Given the description of an element on the screen output the (x, y) to click on. 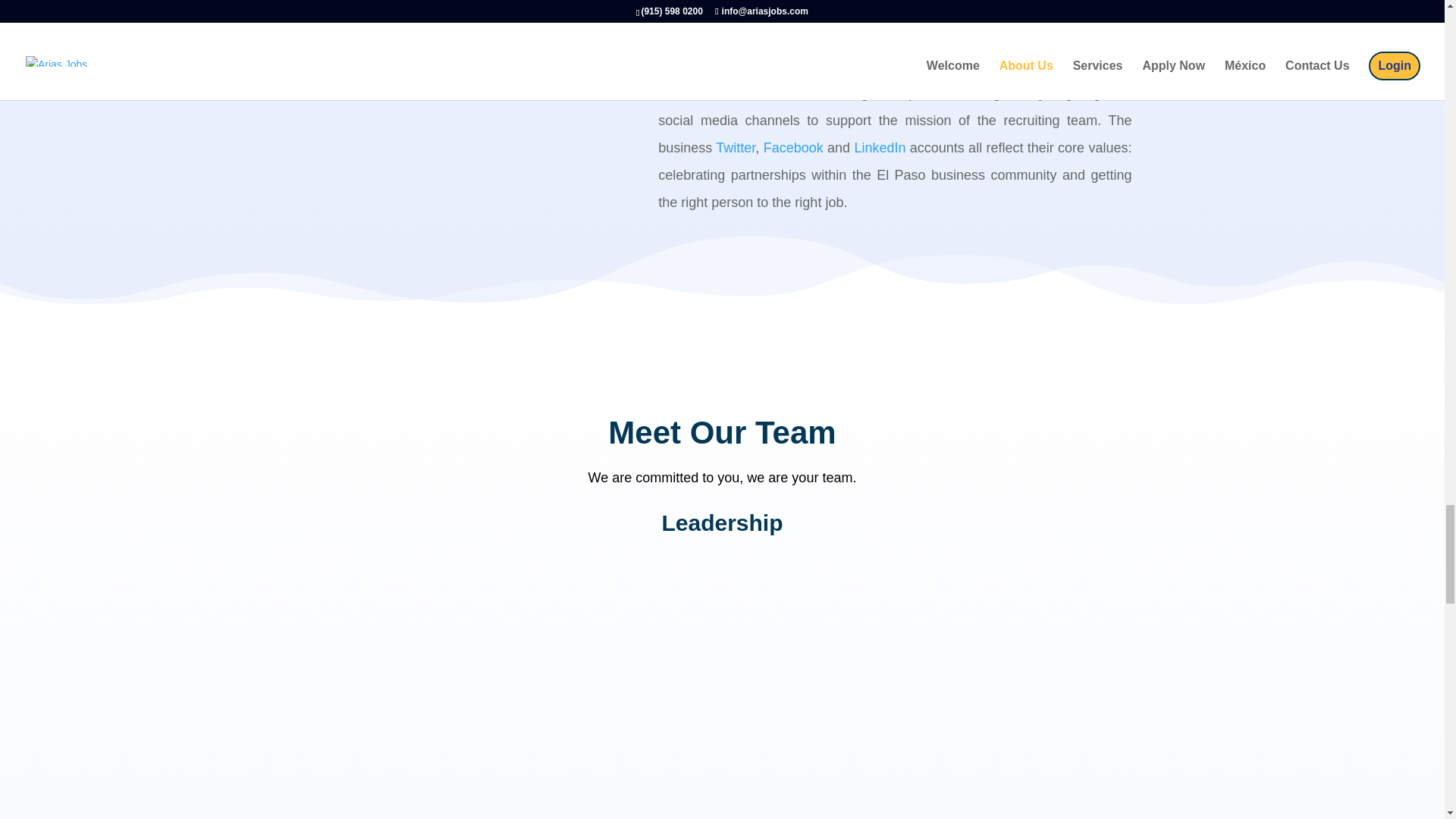
Twitter (735, 147)
Facebook (793, 147)
LinkedIn (879, 147)
